Given the description of an element on the screen output the (x, y) to click on. 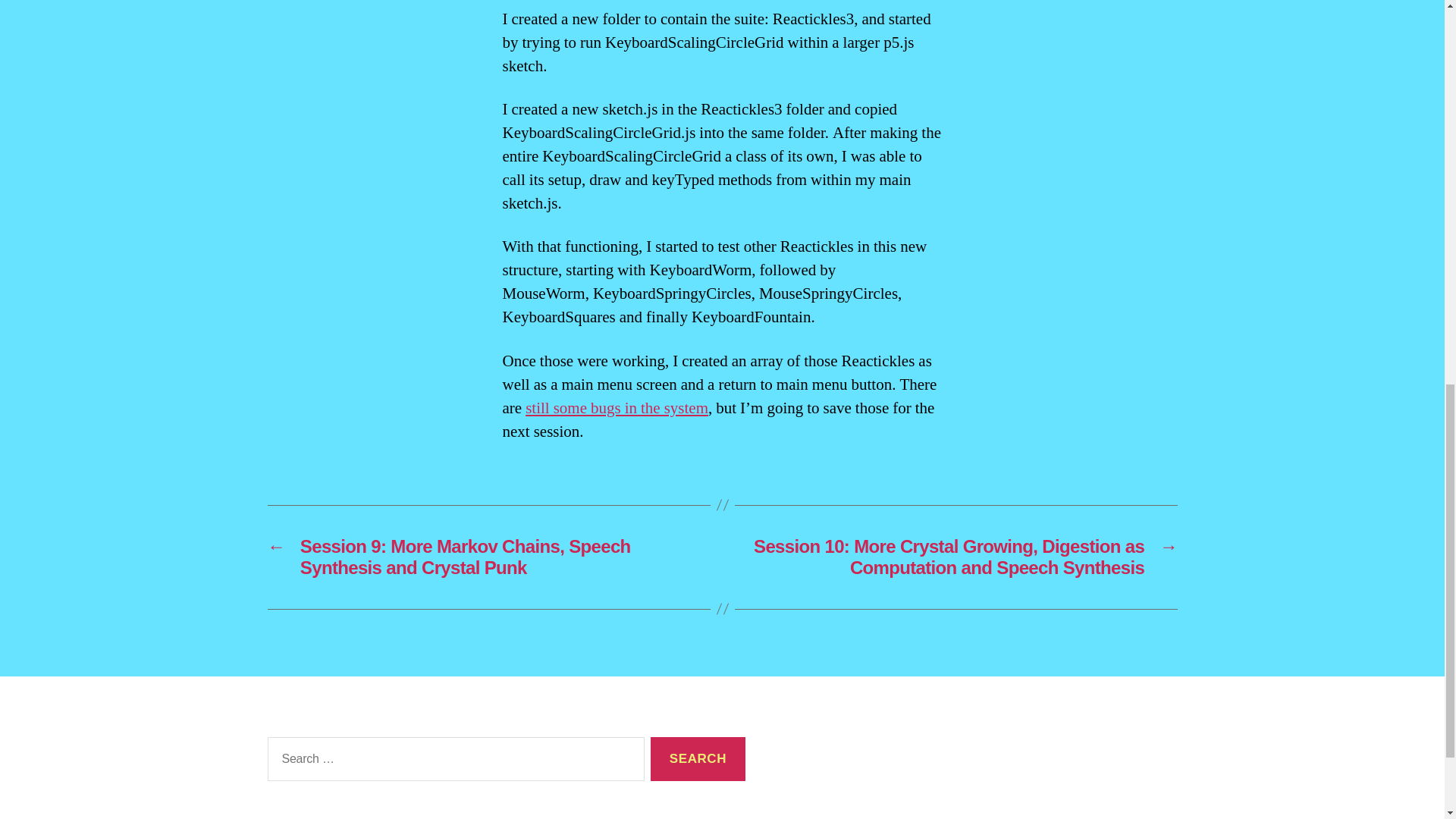
still some bugs in the system (616, 408)
Search (697, 759)
Search (697, 759)
Search (697, 759)
